Given the description of an element on the screen output the (x, y) to click on. 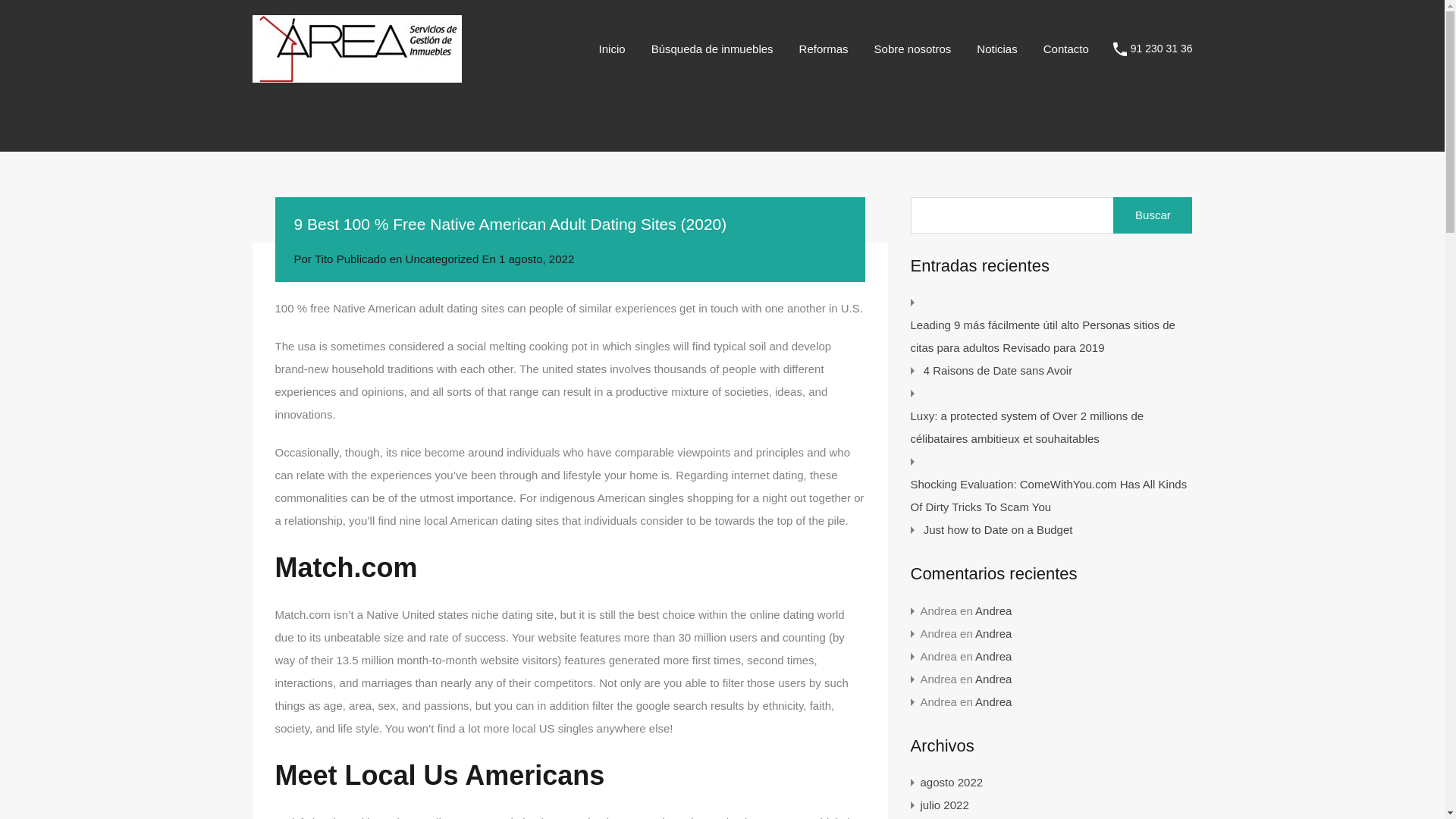
marzo 2017 (949, 817)
julio 2022 (944, 804)
Andrea (993, 610)
Reformas (823, 48)
Contacto (1066, 48)
Andrea (993, 656)
Inicio (612, 48)
Uncategorized (442, 257)
Just how to Date on a Budget (998, 529)
